Given the description of an element on the screen output the (x, y) to click on. 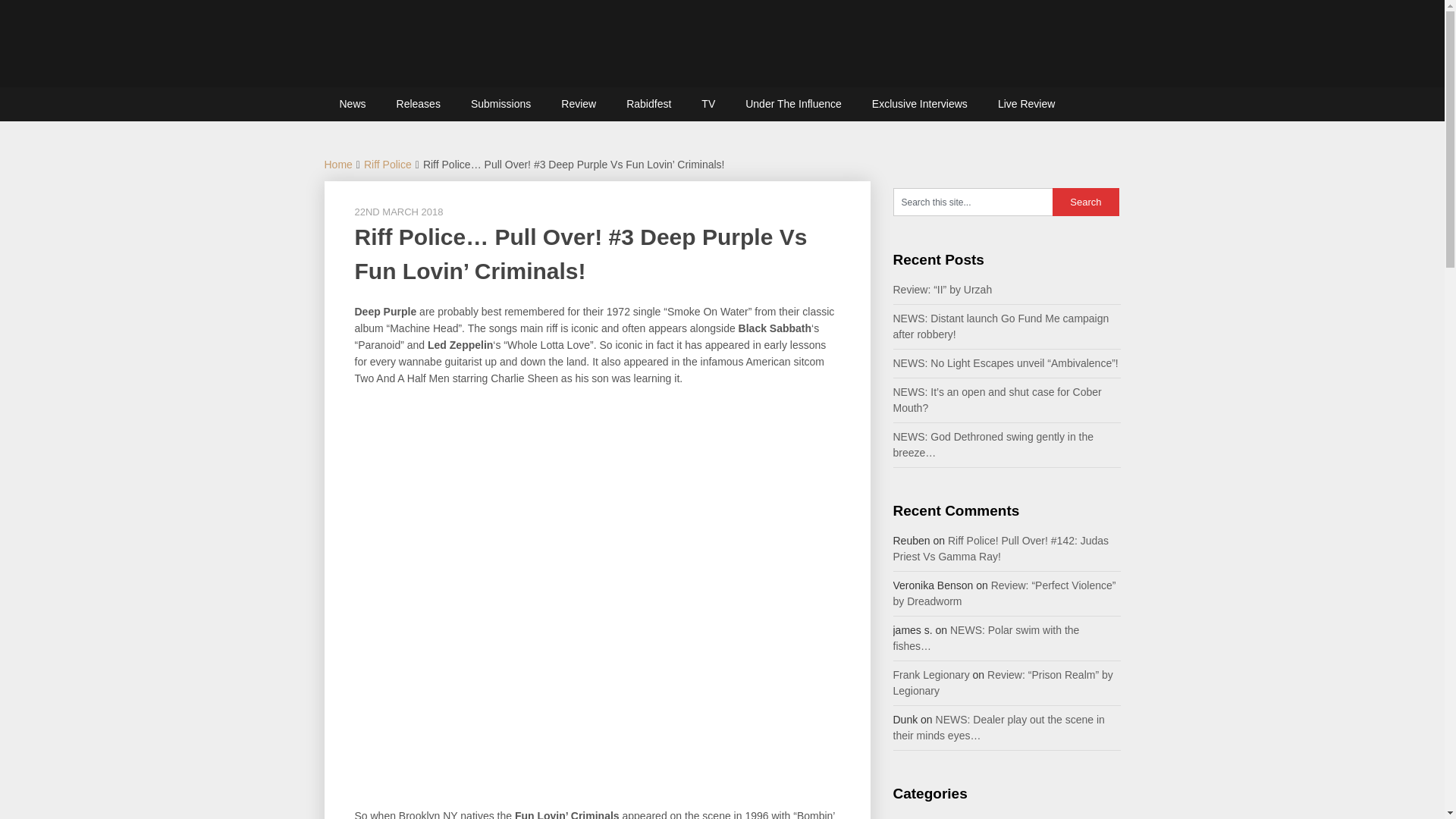
Frank Legionary (931, 674)
Review (578, 103)
Search (1085, 202)
Riff Police (388, 164)
TV (707, 103)
Search (1085, 202)
Search this site... (972, 202)
Submissions (500, 103)
Under The Influence (793, 103)
Exclusive Interviews (919, 103)
